Given the description of an element on the screen output the (x, y) to click on. 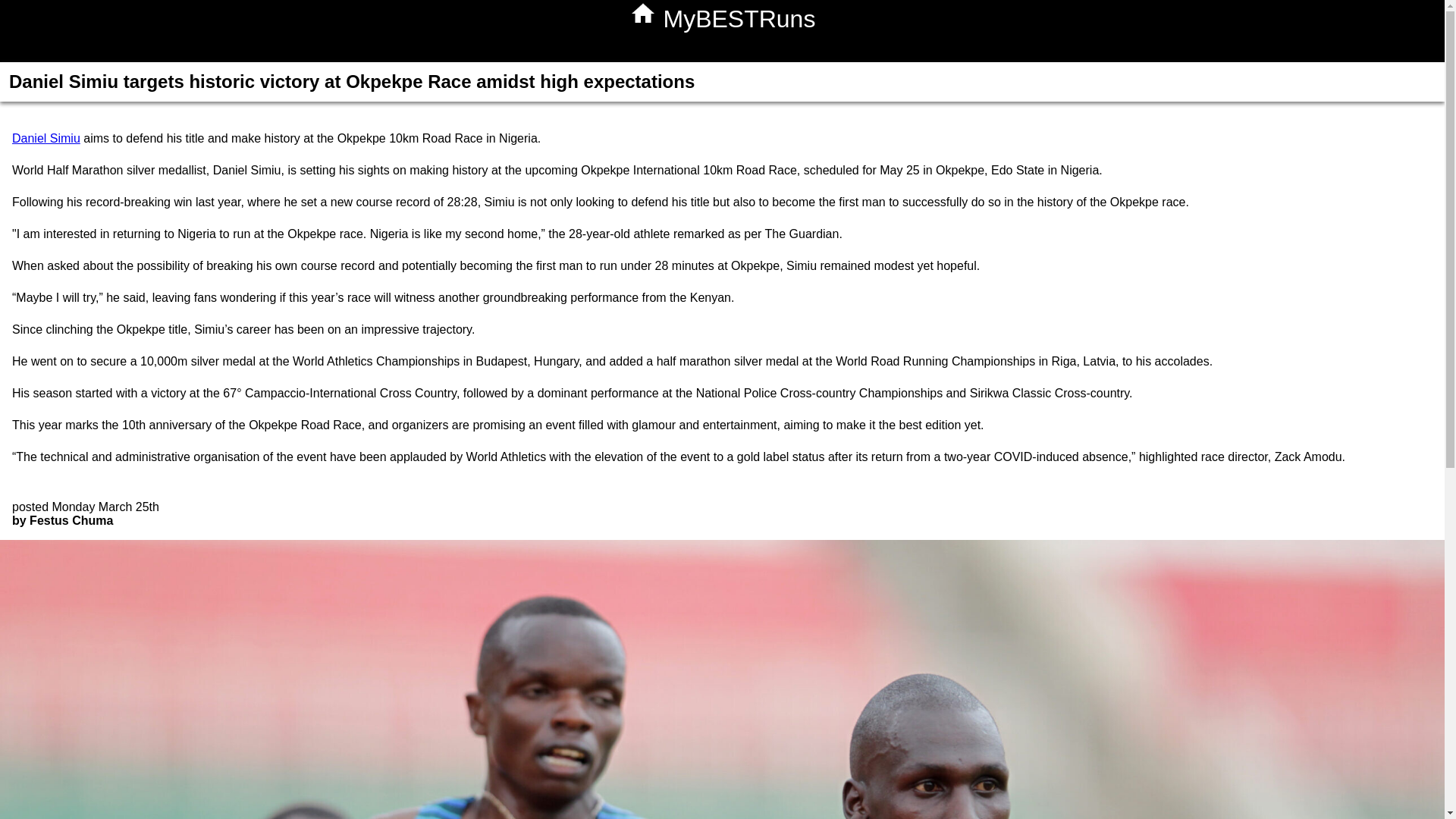
Daniel Simiu (45, 137)
